Given the description of an element on the screen output the (x, y) to click on. 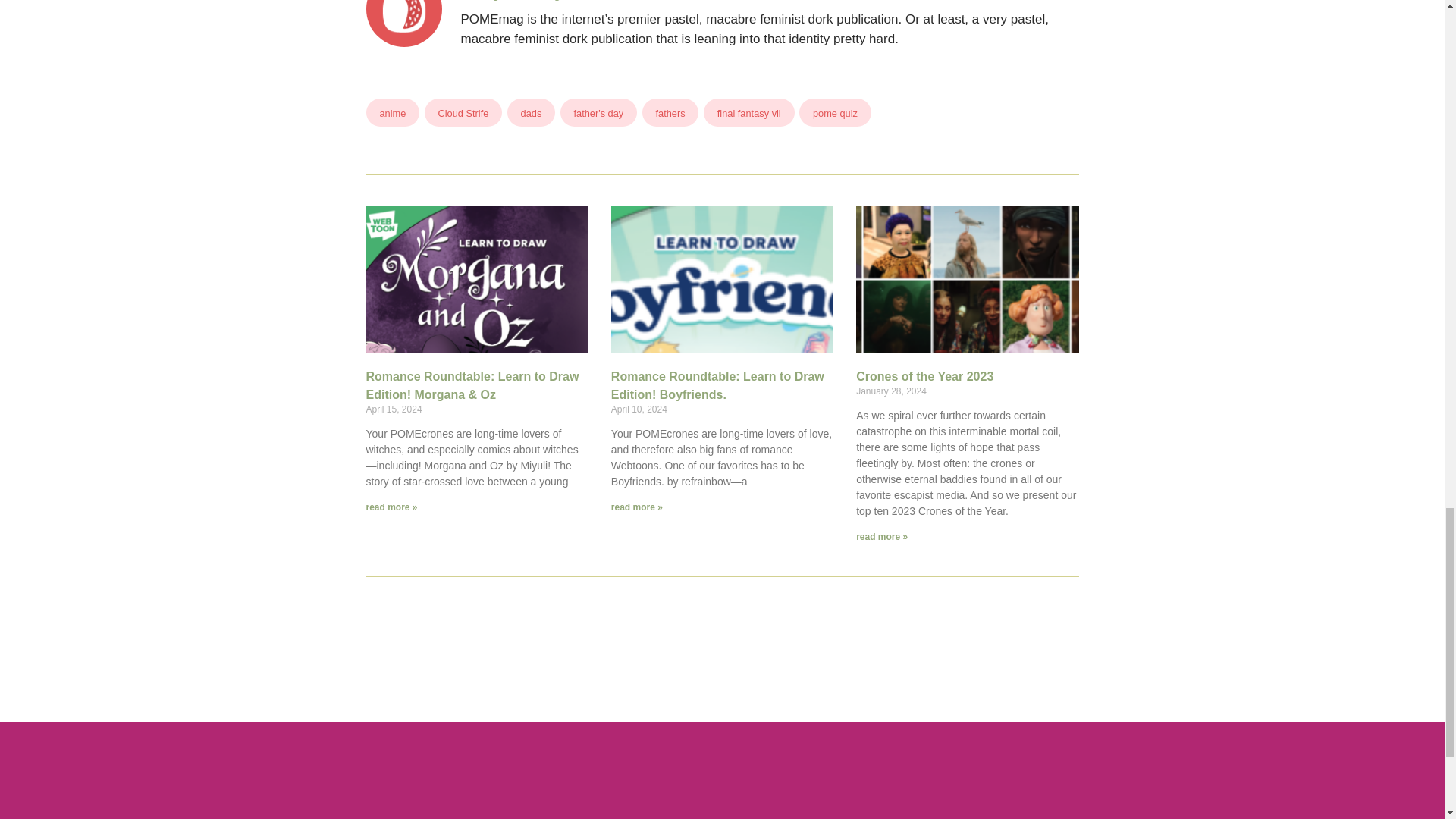
Crones of the Year 2023 (924, 376)
fathers (672, 112)
dads (533, 112)
Romance Roundtable: Learn to Draw Edition! Boyfriends. (717, 385)
father's day (601, 112)
Cloud Strife (465, 112)
pome quiz (837, 112)
anime (394, 112)
final fantasy vii (751, 112)
